Given the description of an element on the screen output the (x, y) to click on. 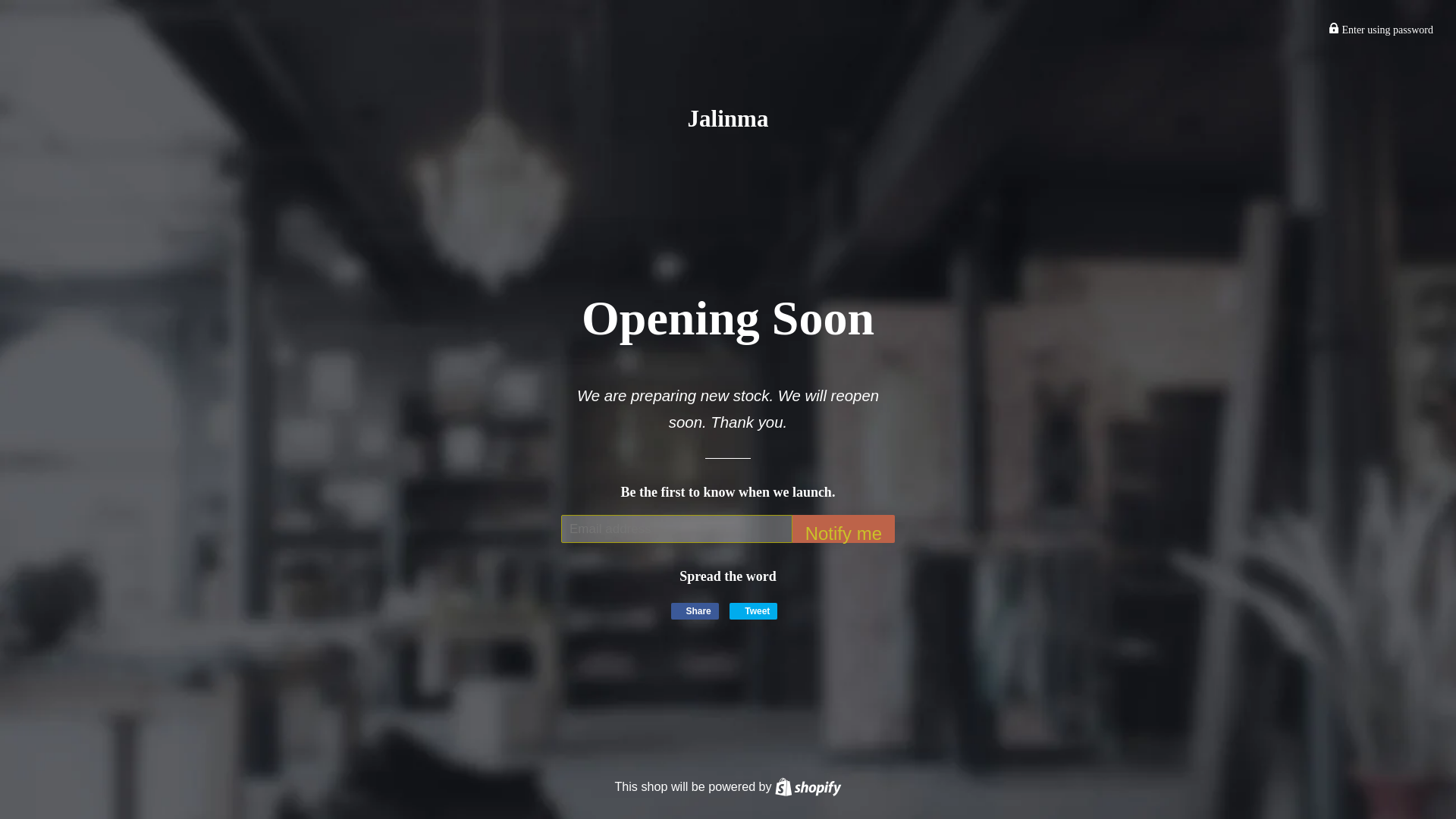
Lock icon (1333, 27)
Lock icon Enter using password (807, 786)
Shopify logo (1379, 30)
Create your own online store with Shopify (807, 786)
Tweet on Twitter (807, 786)
Share on Facebook (753, 610)
Notify me (695, 610)
